Given the description of an element on the screen output the (x, y) to click on. 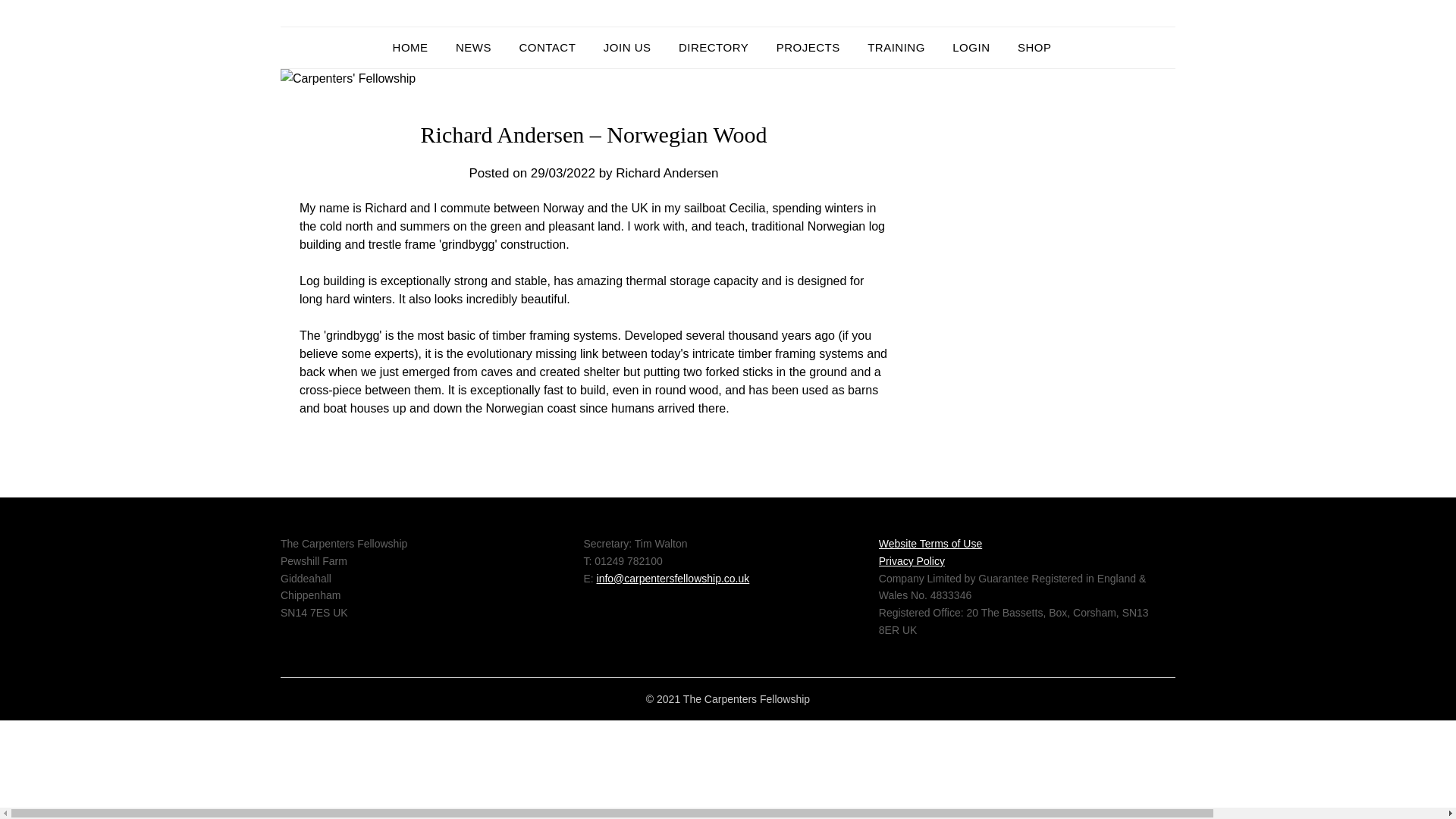
TRAINING (896, 47)
PROJECTS (807, 47)
LOGIN (970, 47)
DIRECTORY (713, 47)
CONTACT (547, 47)
HOME (417, 47)
JOIN US (627, 47)
Privacy Policy (911, 561)
SHOP (1035, 47)
NEWS (473, 47)
Richard Andersen (666, 173)
Website Terms of Use (930, 543)
